Given the description of an element on the screen output the (x, y) to click on. 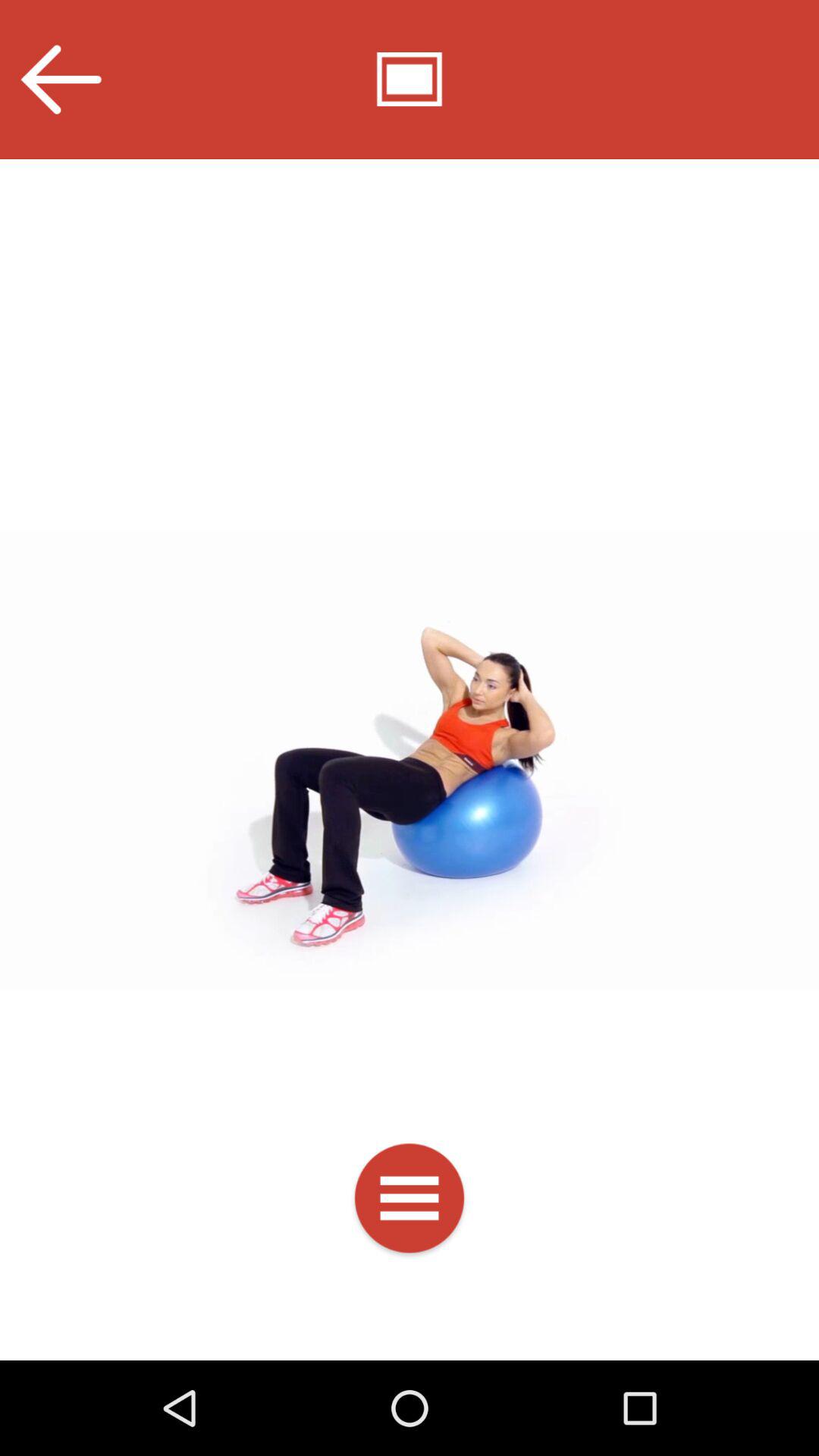
open menu (409, 1200)
